Given the description of an element on the screen output the (x, y) to click on. 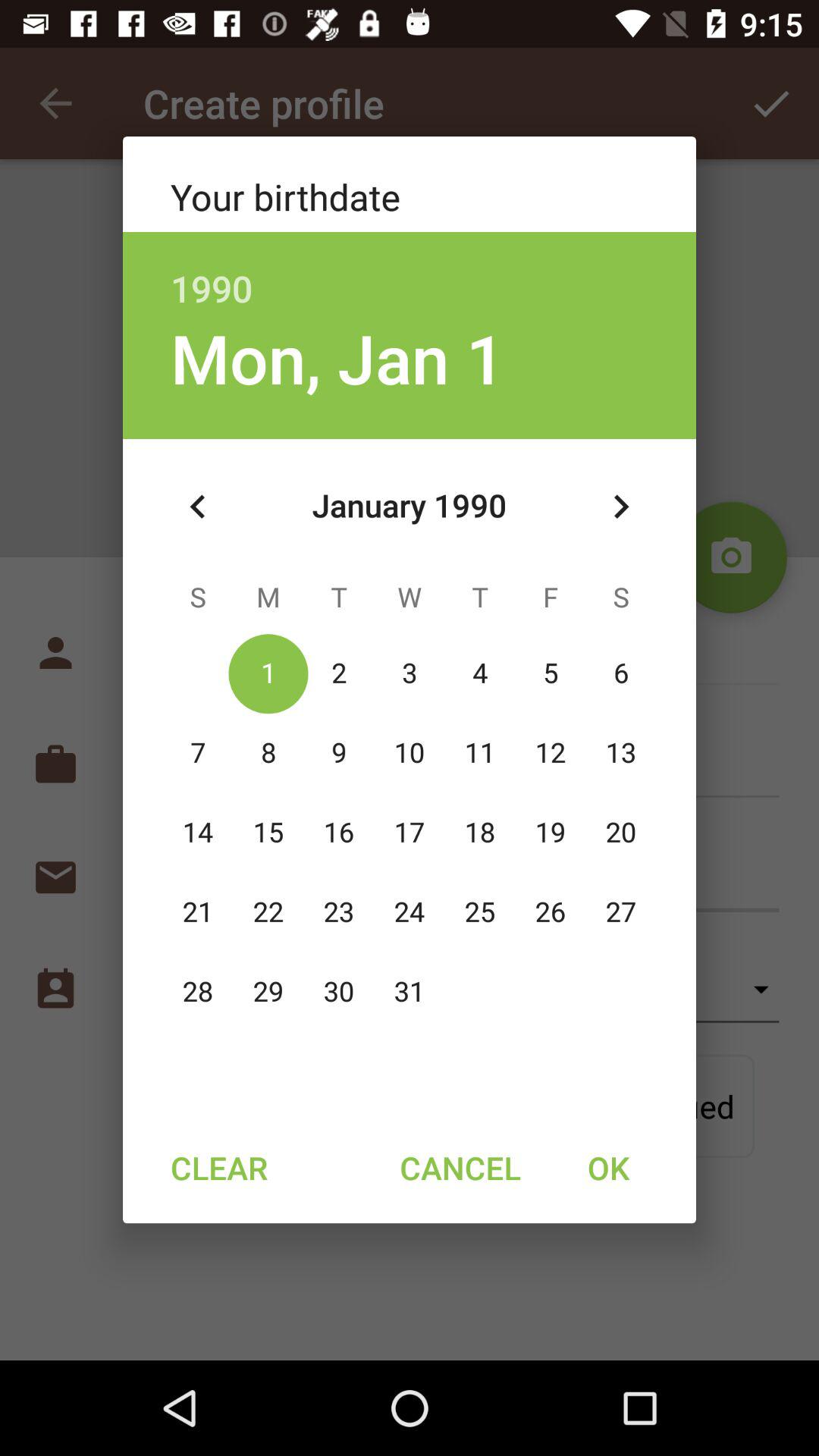
launch the icon to the left of ok (459, 1167)
